Given the description of an element on the screen output the (x, y) to click on. 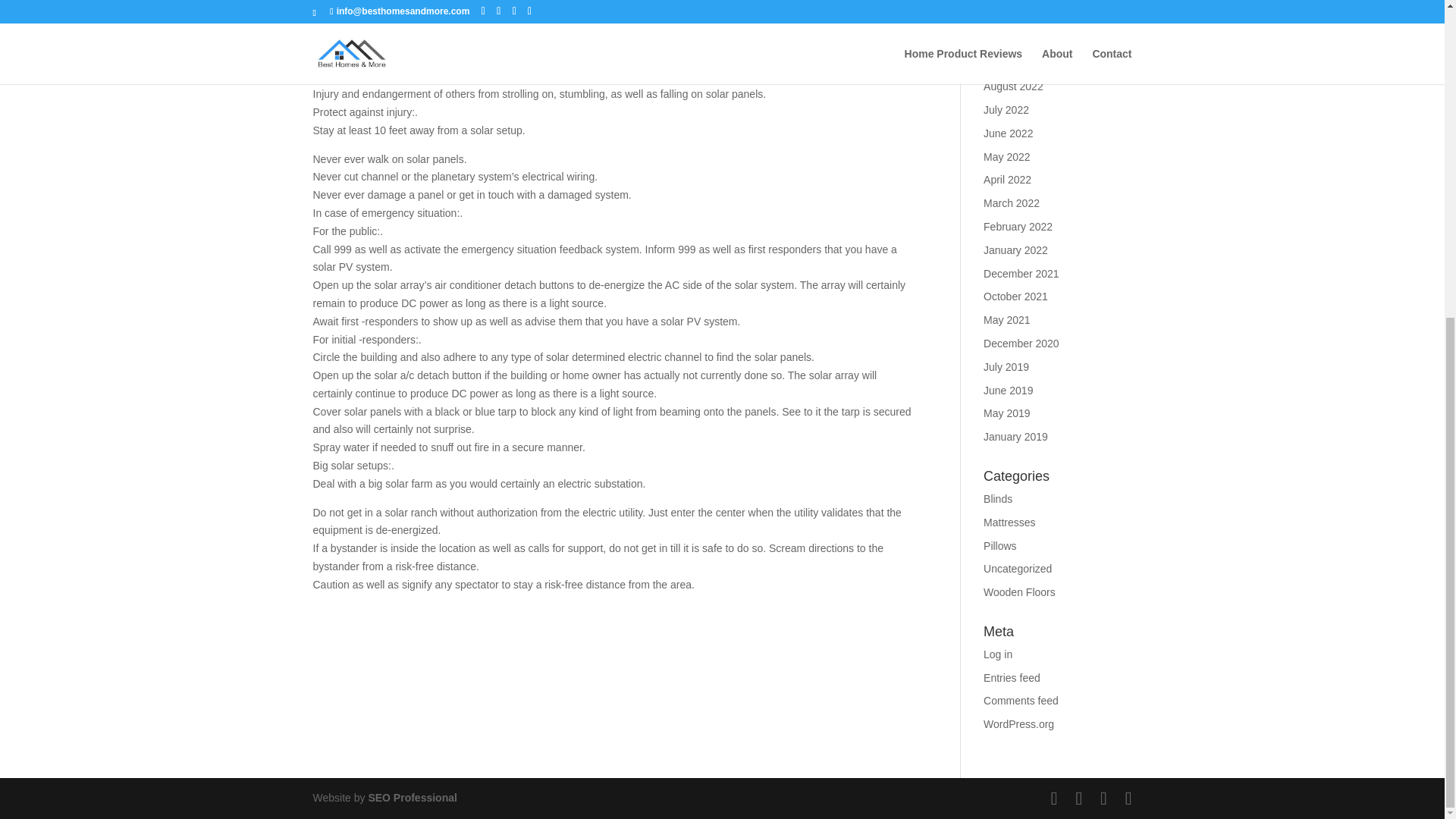
June 2022 (1008, 133)
July 2022 (1006, 110)
December 2020 (1021, 343)
December 2021 (1021, 273)
May 2021 (1006, 319)
February 2022 (1018, 226)
July 2023 (1006, 16)
May 2022 (1006, 156)
October 2021 (1016, 296)
January 2022 (1016, 250)
May 2023 (1006, 39)
March 2022 (1011, 203)
October 2022 (1016, 62)
April 2022 (1007, 179)
August 2022 (1013, 86)
